Given the description of an element on the screen output the (x, y) to click on. 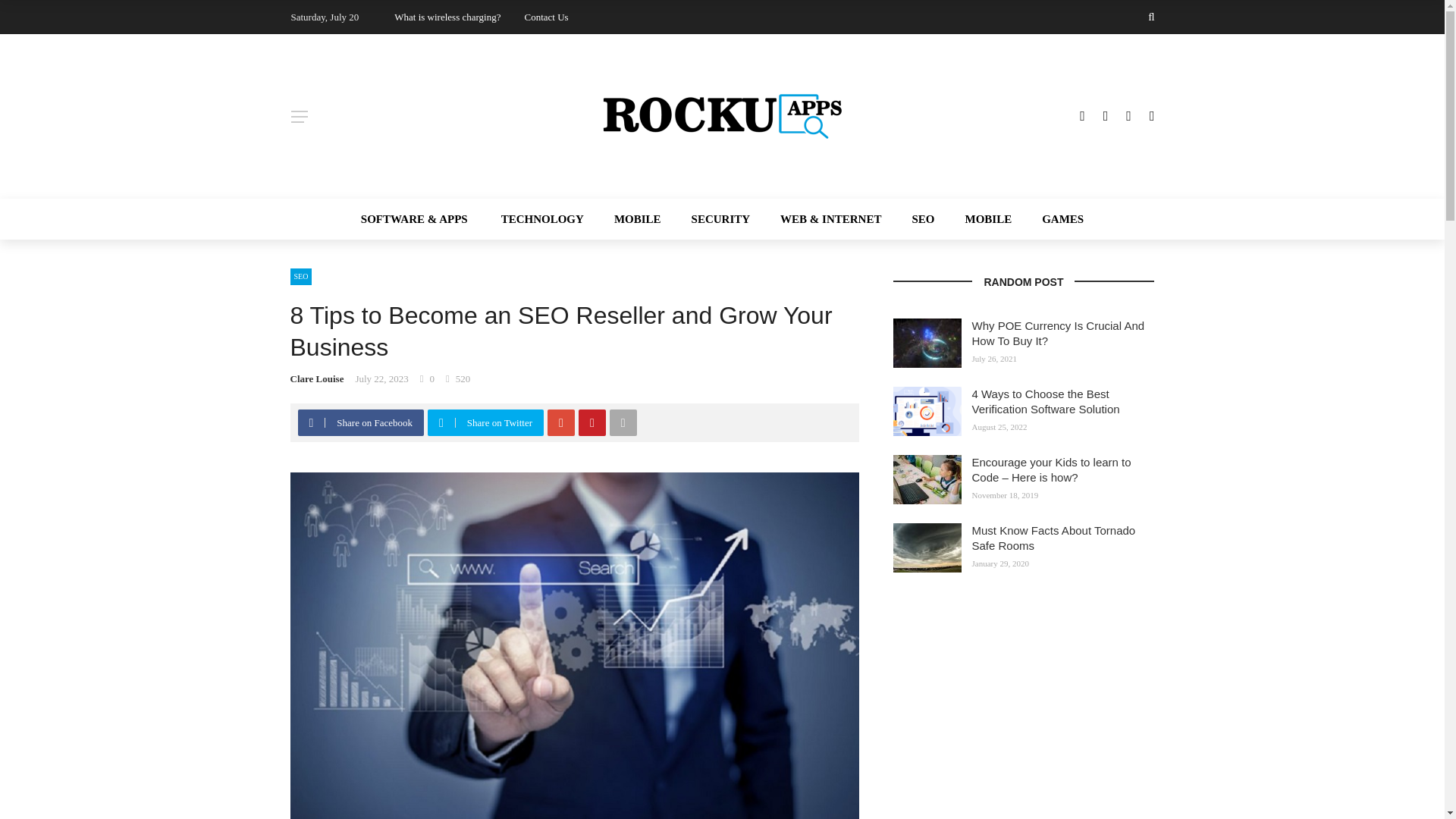
MOBILE (987, 219)
GAMES (1054, 219)
Contact Us (546, 16)
SEO (922, 219)
What is wireless charging? (447, 16)
TECHNOLOGY (542, 219)
SECURITY (721, 219)
MOBILE (637, 219)
